Given the description of an element on the screen output the (x, y) to click on. 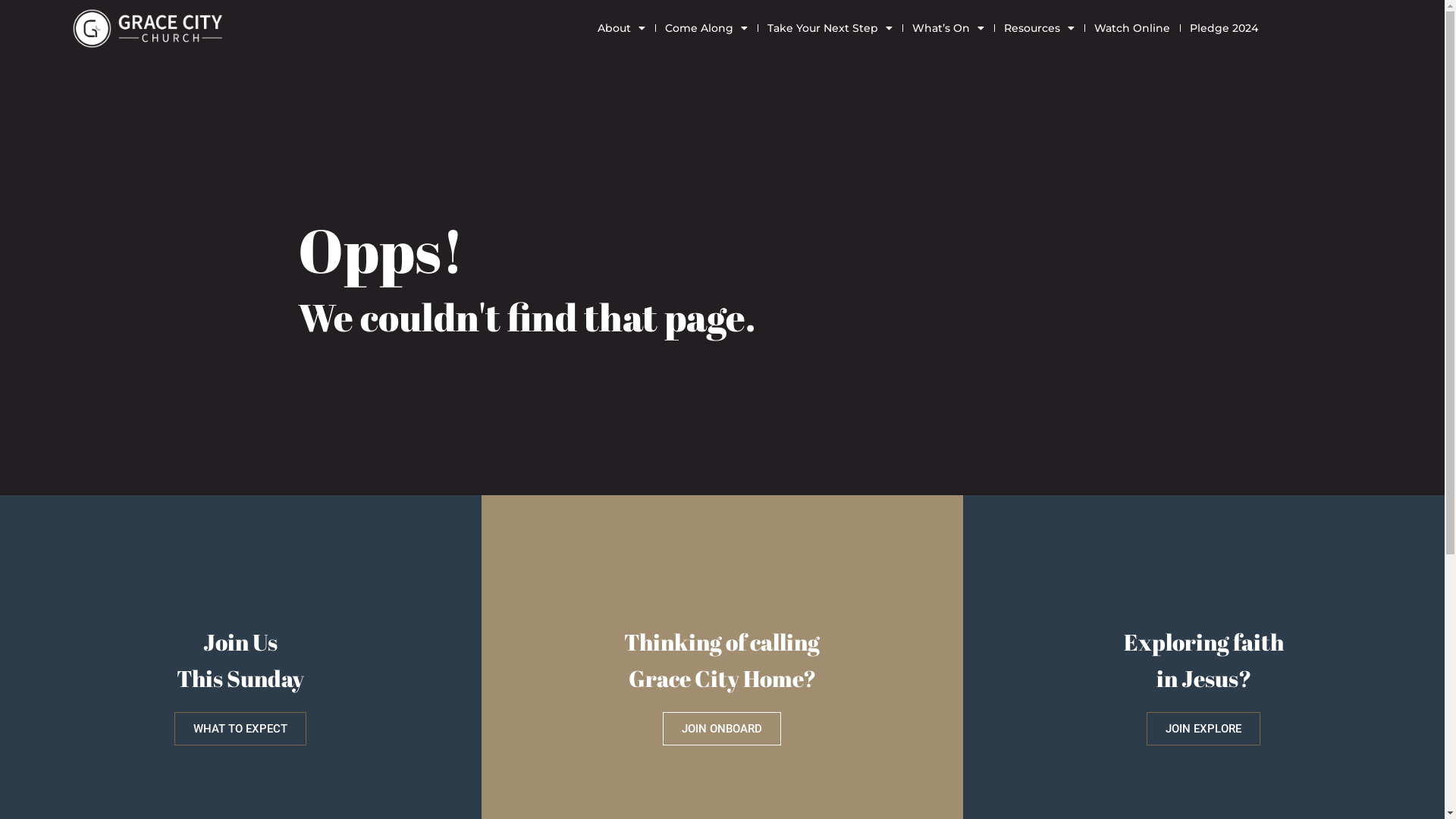
JOIN EXPLORE Element type: text (1203, 728)
About Element type: text (620, 28)
JOIN ONBOARD Element type: text (721, 728)
Watch Online Element type: text (1131, 28)
WHAT TO EXPECT Element type: text (240, 728)
Pledge 2024 Element type: text (1223, 28)
Resources Element type: text (1039, 28)
Take Your Next Step Element type: text (829, 28)
Come Along Element type: text (706, 28)
